Given the description of an element on the screen output the (x, y) to click on. 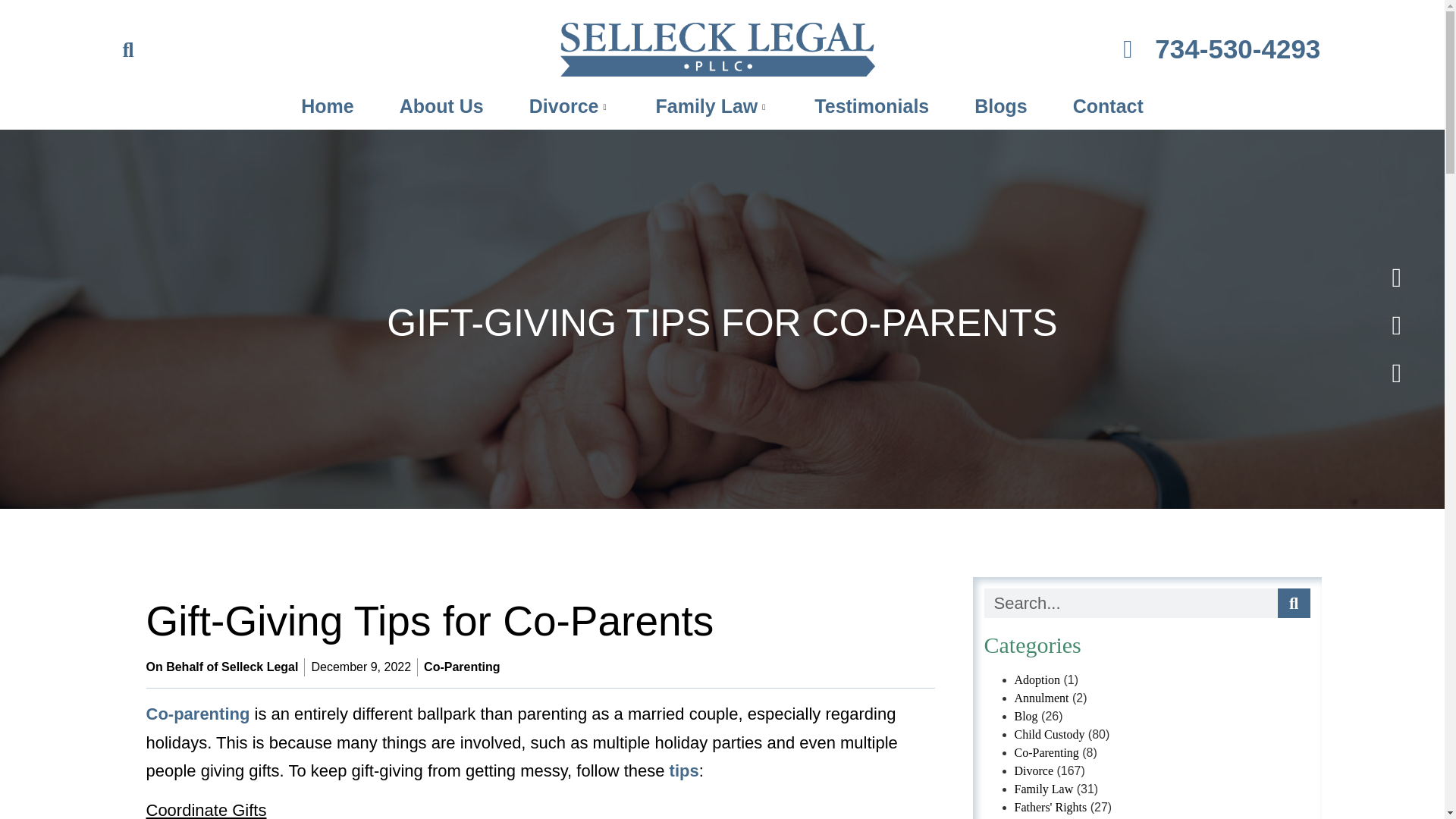
734-530-4293 (1101, 49)
Blogs (1000, 106)
Contact (1107, 106)
Home (326, 106)
About Us (441, 106)
Divorce (569, 106)
Testimonials (872, 106)
Family Law (712, 106)
Logo9 - Selleck Legal, PLLC (717, 49)
